Given the description of an element on the screen output the (x, y) to click on. 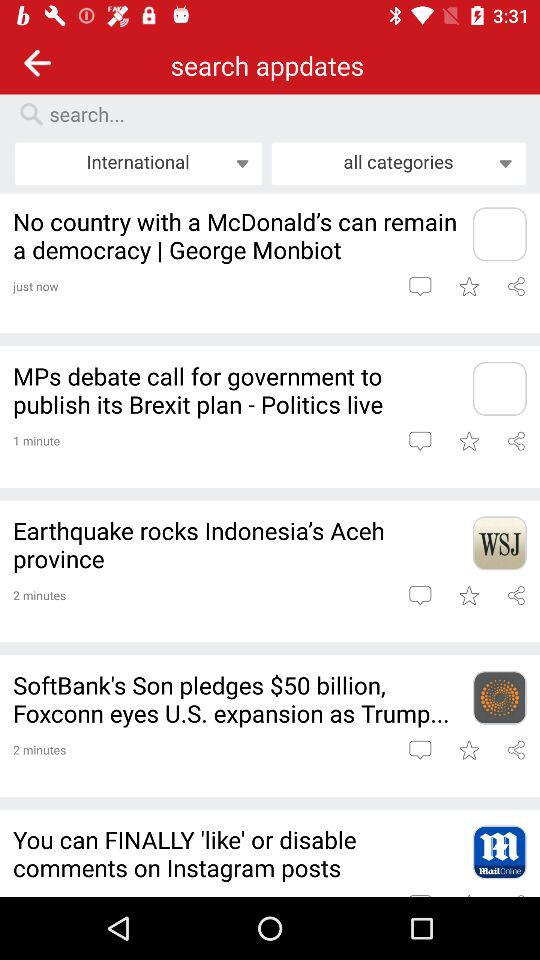
share this information option (515, 440)
